Given the description of an element on the screen output the (x, y) to click on. 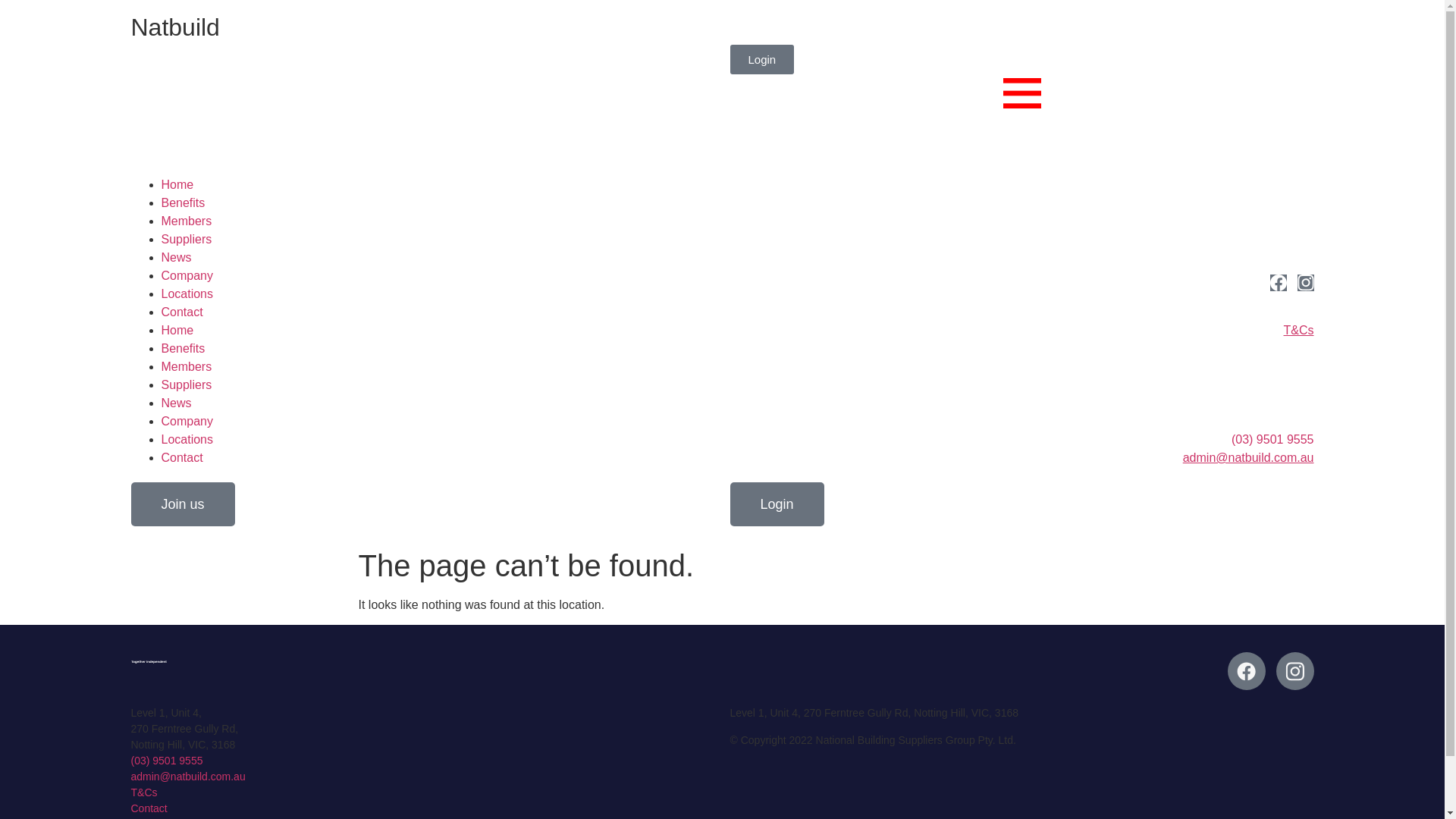
admin@natbuild.com.au Element type: text (1248, 457)
Locations Element type: text (186, 439)
Natbuild Element type: text (174, 26)
(03) 9501 9555 Element type: text (166, 760)
News Element type: text (175, 402)
Login Element type: text (776, 504)
Join us Element type: text (182, 504)
Benefits Element type: text (182, 348)
Join us Element type: text (765, 29)
T&Cs Element type: text (1298, 329)
Suppliers Element type: text (185, 238)
Home Element type: text (176, 184)
News Element type: text (175, 257)
Members Element type: text (185, 366)
admin@natbuild.com.au Element type: text (187, 776)
Contact Element type: text (181, 311)
Login Element type: text (761, 59)
Locations Element type: text (186, 293)
Suppliers Element type: text (185, 384)
Benefits Element type: text (182, 202)
Home Element type: text (176, 329)
(03) 9501 9555 Element type: text (1272, 439)
Contact Element type: text (181, 457)
Contact Element type: text (148, 808)
T&Cs Element type: text (143, 792)
Company Element type: text (186, 275)
Members Element type: text (185, 220)
Company Element type: text (186, 420)
